Given the description of an element on the screen output the (x, y) to click on. 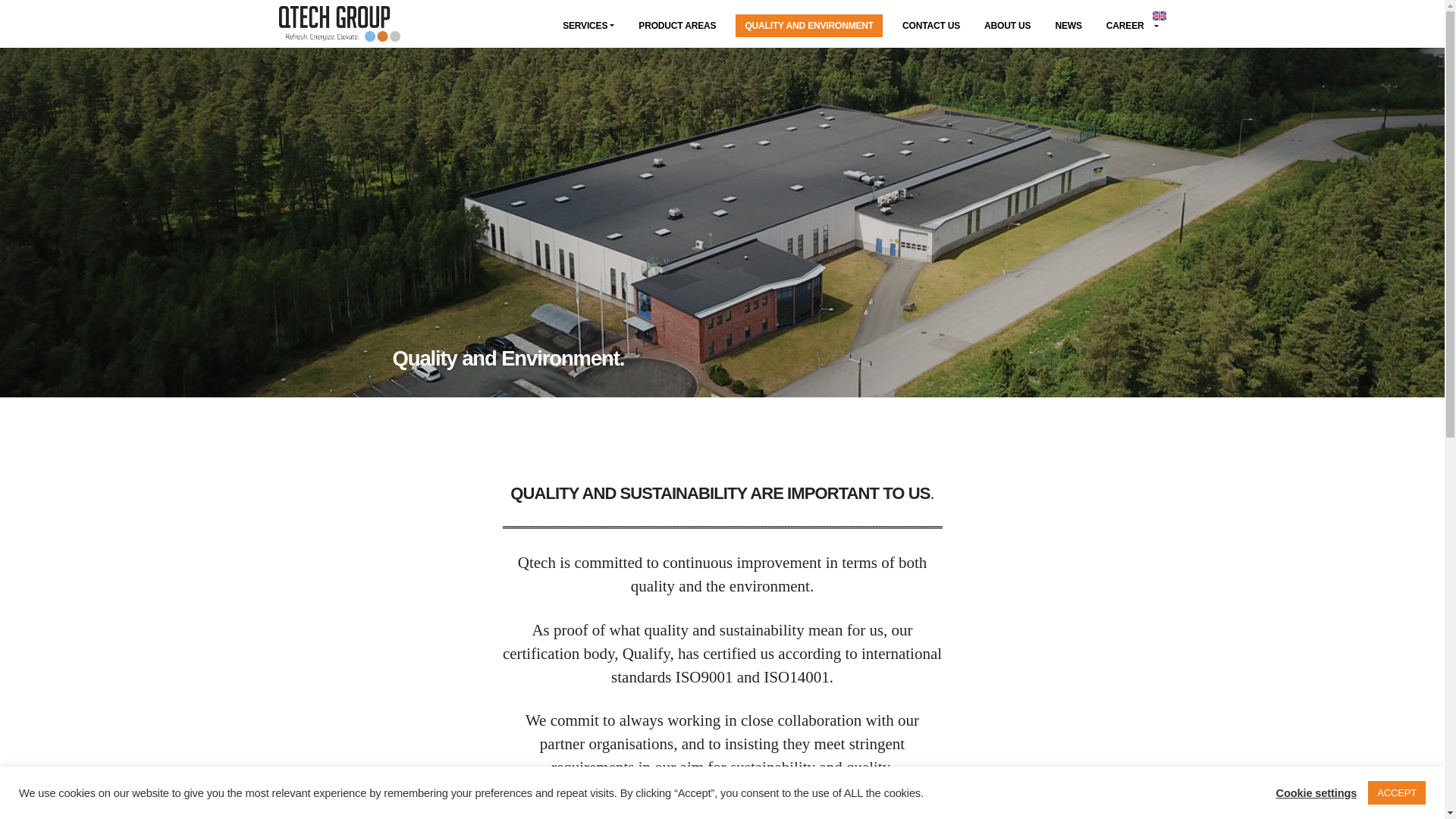
Quality and Environment (808, 25)
NEWS (1067, 25)
Cookie settings (1316, 792)
SERVICES (587, 25)
Services (587, 25)
Contact us (930, 25)
News (1067, 25)
ABOUT US (1007, 25)
ACCEPT (1396, 792)
About Us (1007, 25)
